Given the description of an element on the screen output the (x, y) to click on. 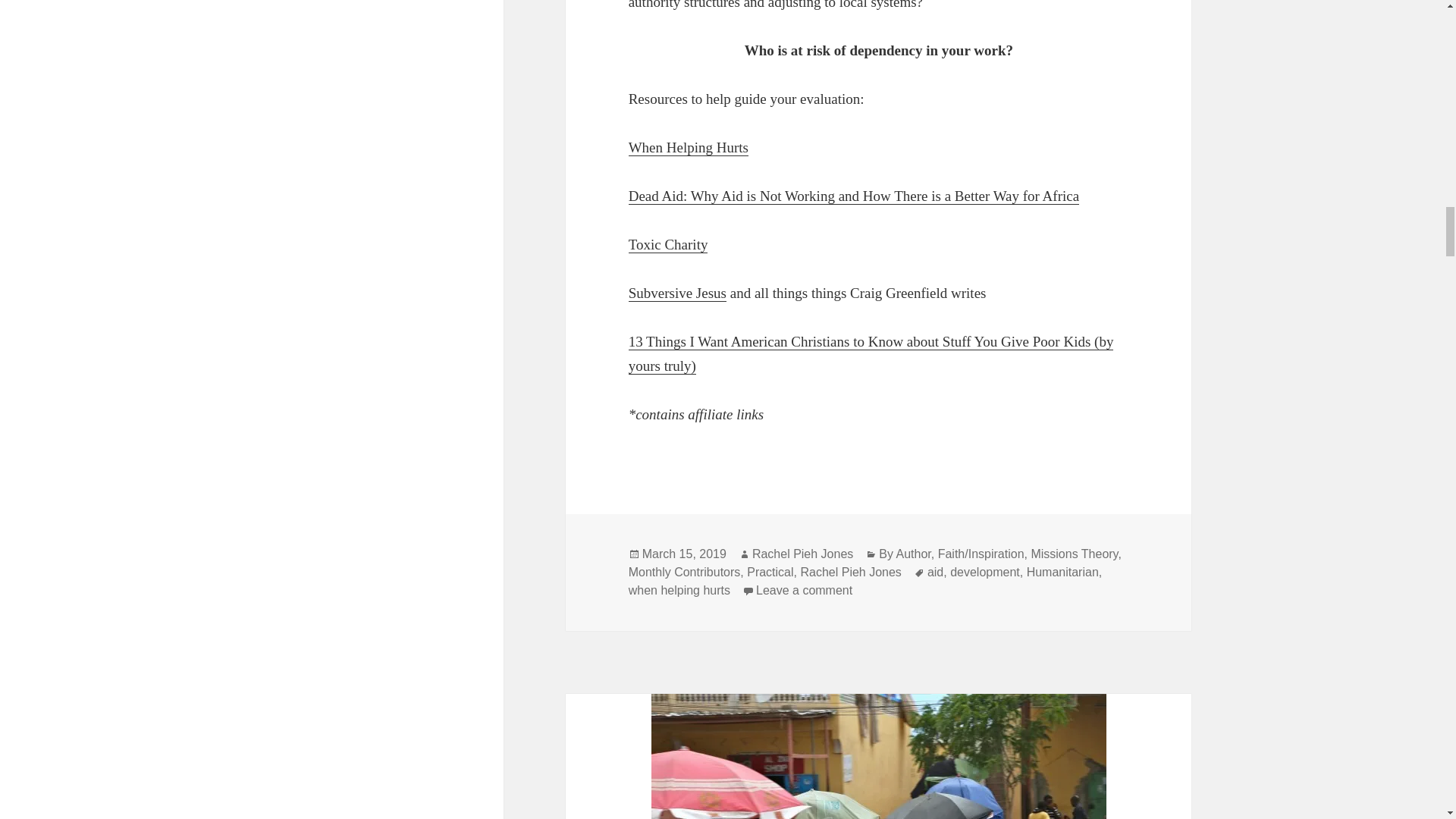
when helping hurts (679, 590)
Humanitarian (1062, 572)
development (985, 572)
Subversive Jesus (677, 293)
March 15, 2019 (803, 590)
Missions Theory (684, 554)
Practical (1074, 554)
aid (769, 572)
Rachel Pieh Jones (935, 572)
